Given the description of an element on the screen output the (x, y) to click on. 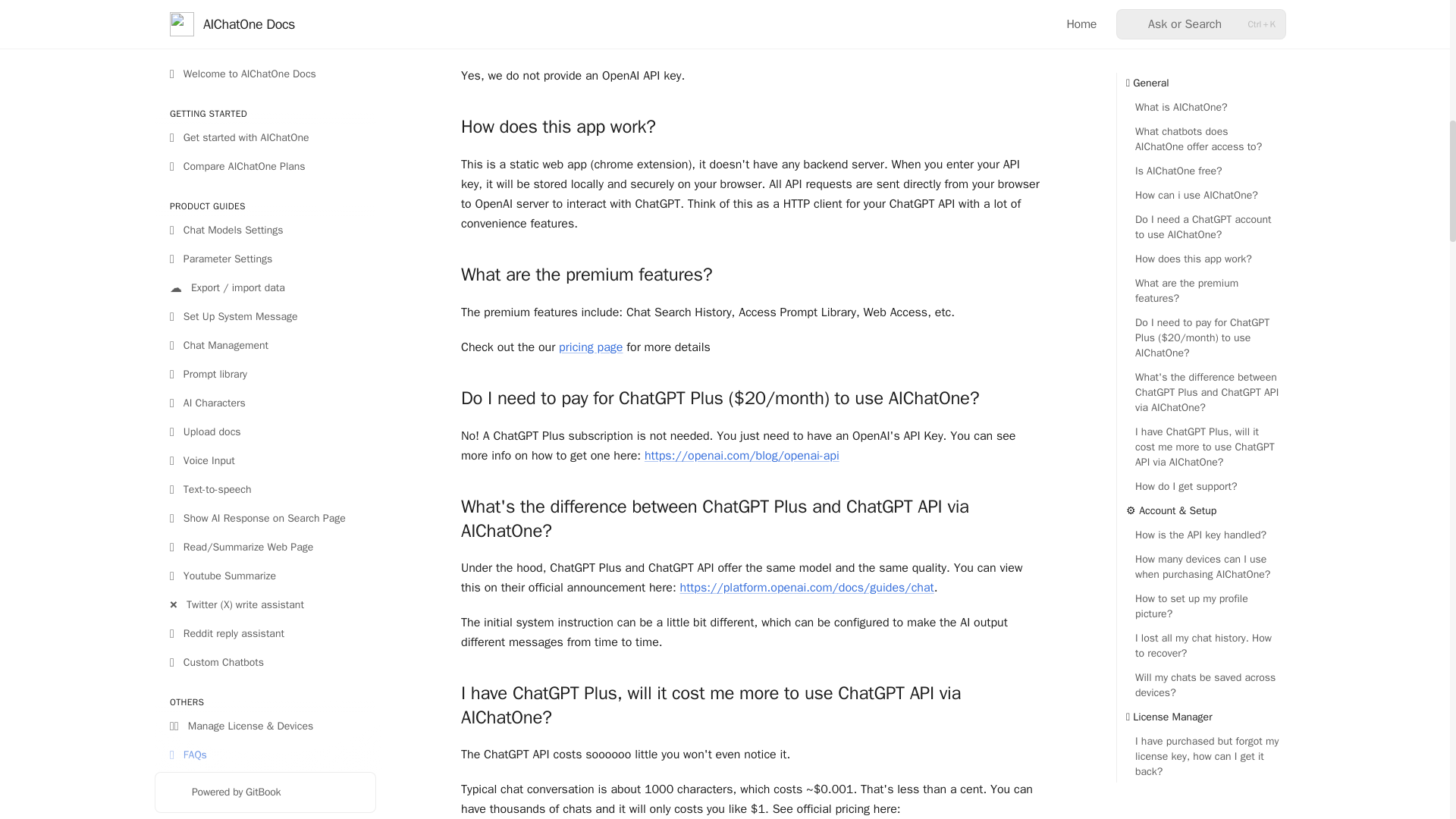
Yes, it was! (1176, 767)
No (1128, 767)
Not sure (1152, 767)
